Given the description of an element on the screen output the (x, y) to click on. 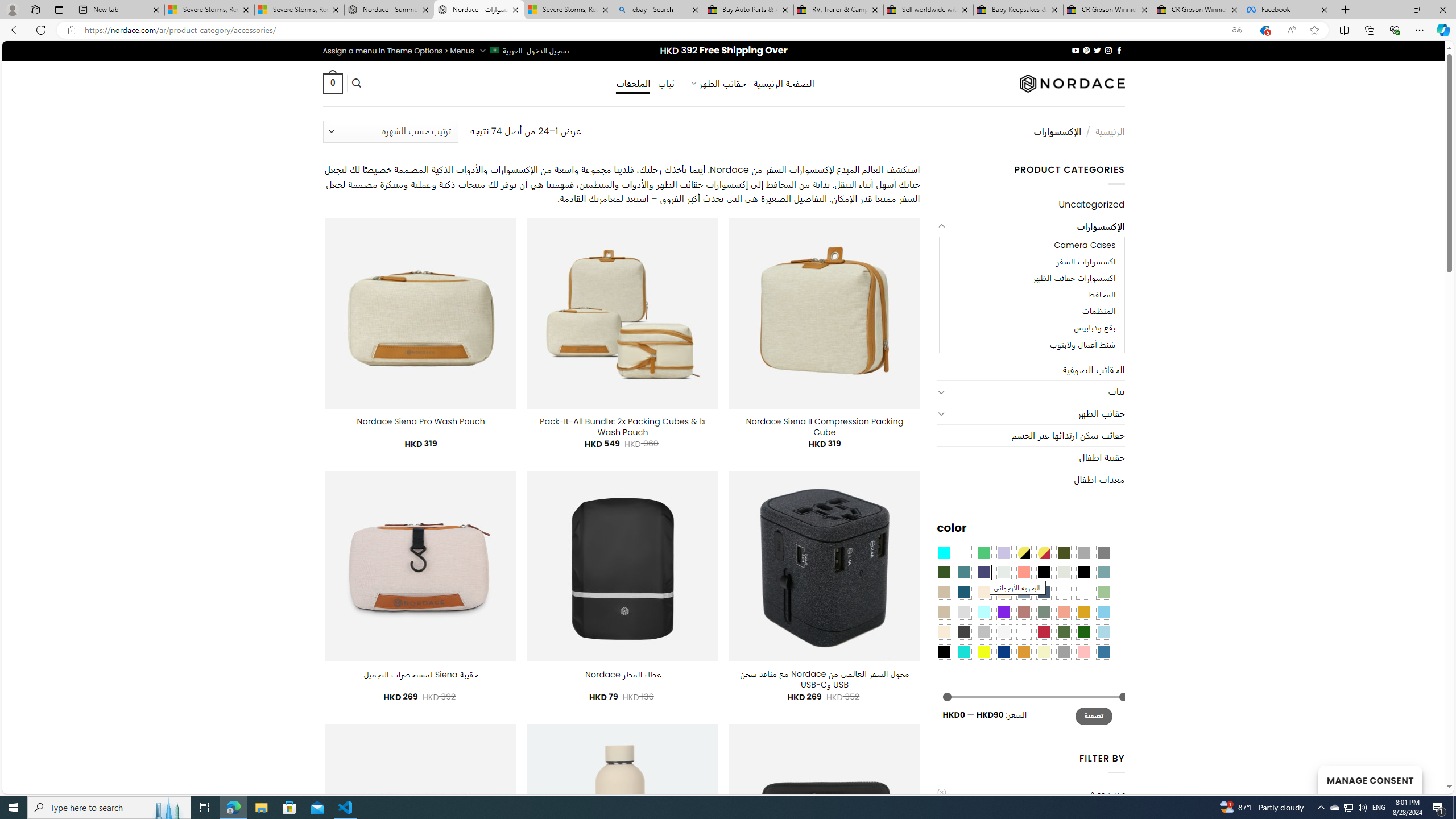
All Black (1043, 572)
